Given the description of an element on the screen output the (x, y) to click on. 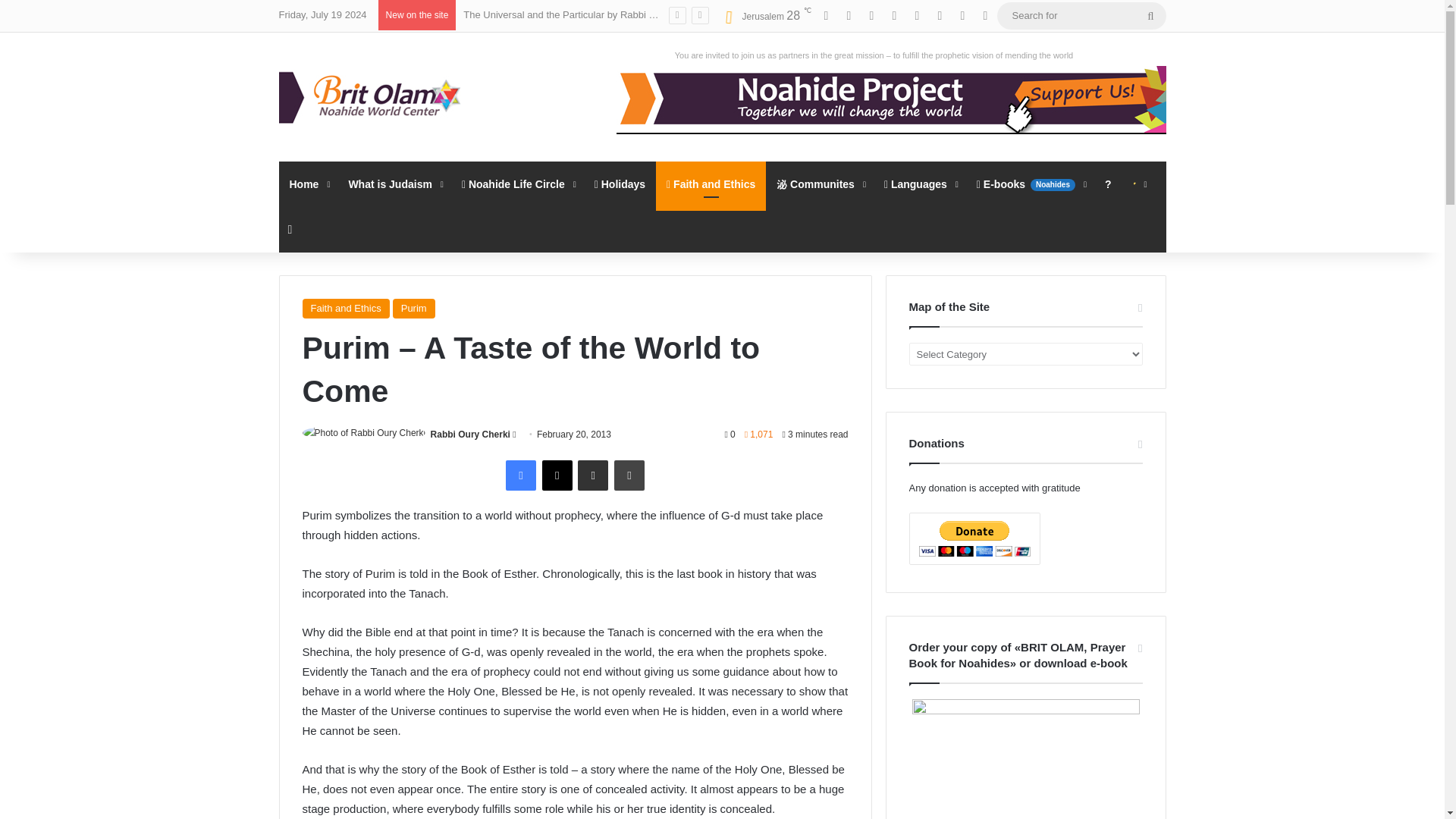
Holidays (619, 184)
Faith and Ethics (710, 184)
The Noahide World Center (373, 97)
Search for (1080, 15)
Search for (1150, 15)
Noahide Life Circle (517, 184)
The Universal and the Particular by Rabbi Sacks (569, 14)
Clear Sky (762, 15)
Home (308, 184)
Communites (819, 184)
What is Judaism (393, 184)
